Given the description of an element on the screen output the (x, y) to click on. 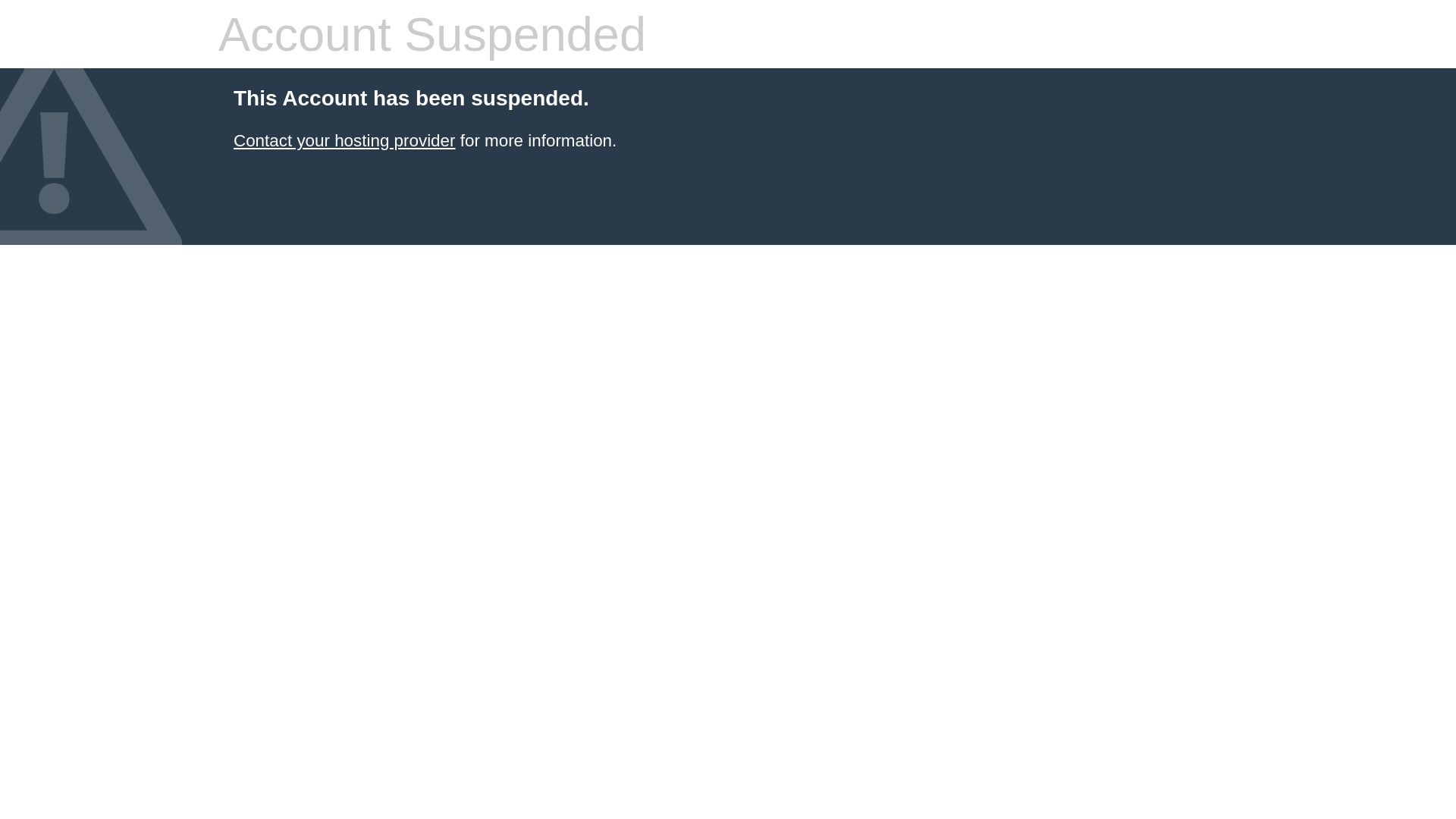
Contact your hosting provider Element type: text (344, 140)
